Given the description of an element on the screen output the (x, y) to click on. 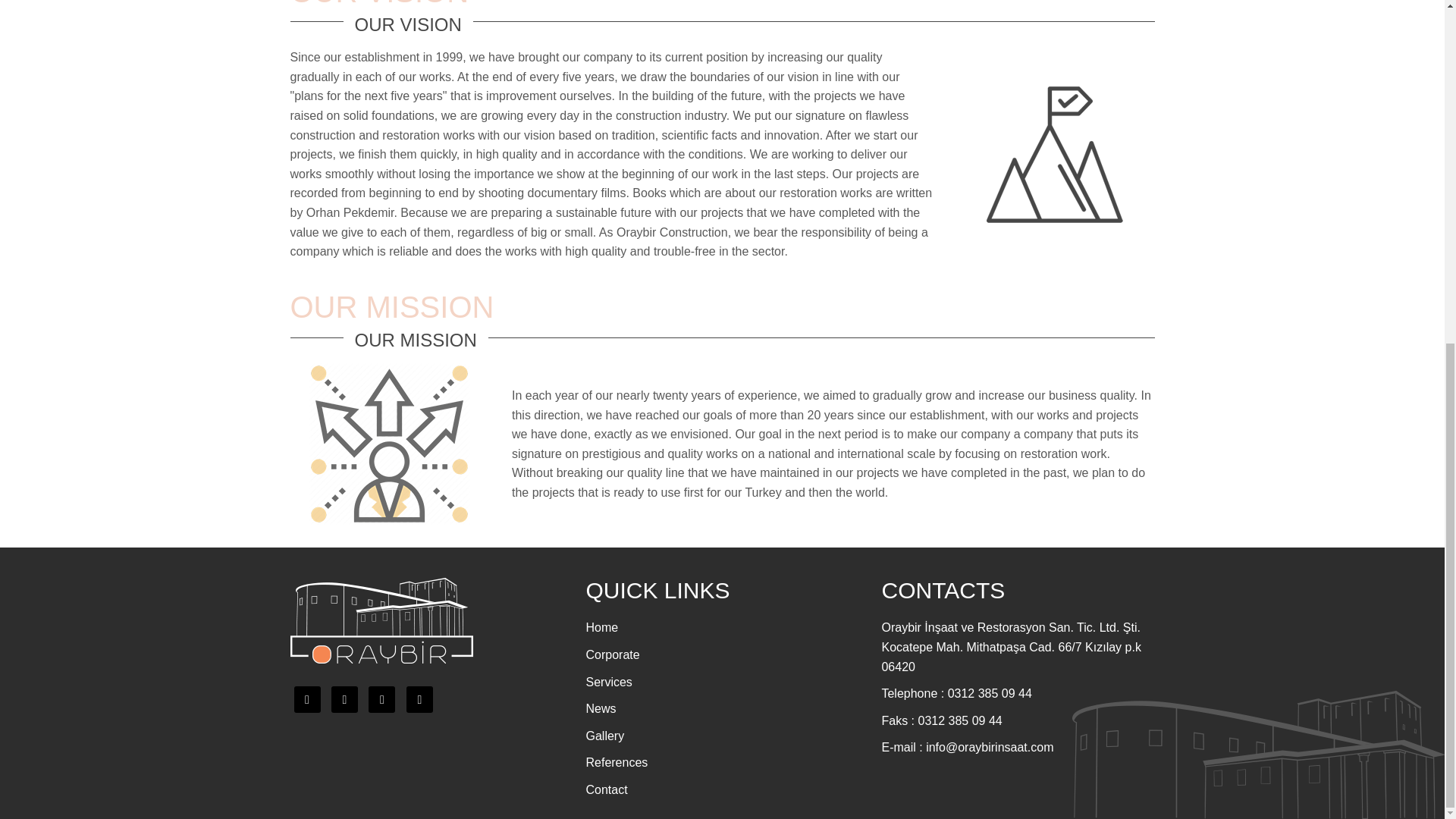
Youtube (419, 699)
Whatsapp (307, 699)
Home (601, 626)
Facebook (344, 699)
Instagram (381, 699)
